Given the description of an element on the screen output the (x, y) to click on. 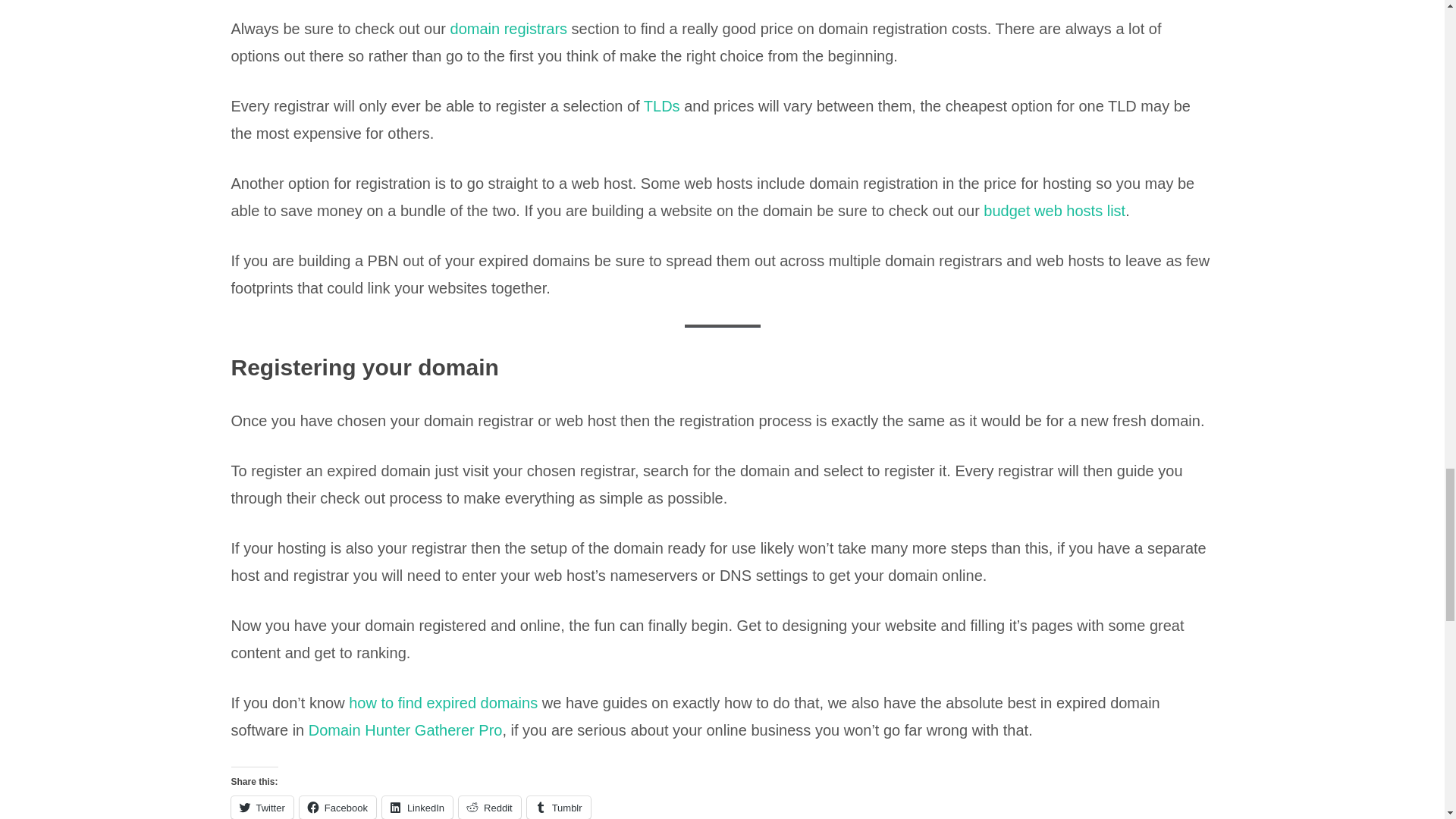
Click to share on Facebook (337, 807)
Click to share on Twitter (261, 807)
Click to share on Reddit (489, 807)
Twitter (261, 807)
Domain Hunter Gatherer Pro (405, 729)
TLDs (661, 105)
Facebook (337, 807)
Tumblr (559, 807)
how to find expired domains (443, 702)
Click to share on LinkedIn (416, 807)
LinkedIn (416, 807)
budget web hosts list (1054, 210)
Click to share on Tumblr (559, 807)
Reddit (489, 807)
domain registrars (508, 28)
